Given the description of an element on the screen output the (x, y) to click on. 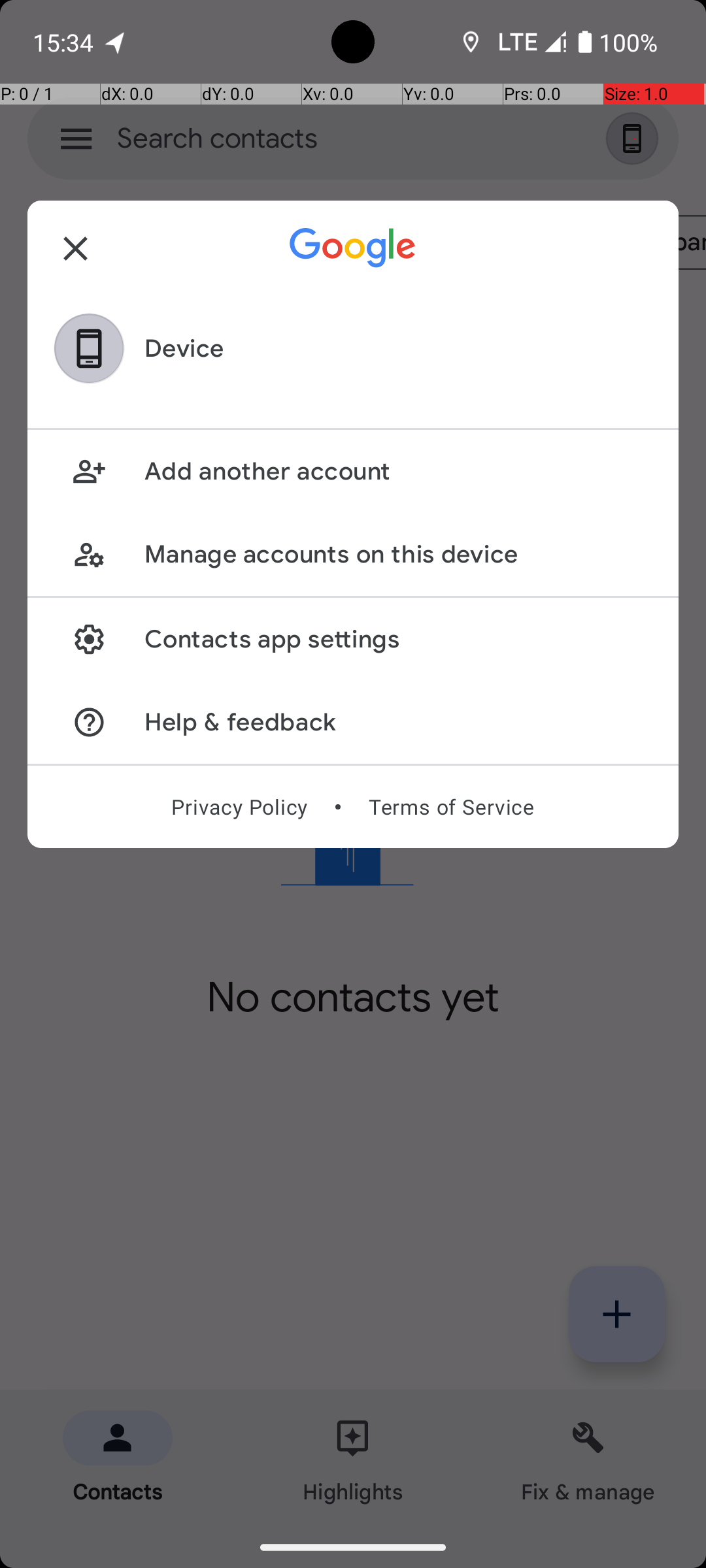
Privacy Policy Element type: android.widget.Button (239, 806)
Terms of Service Element type: android.widget.Button (450, 806)
Device Element type: android.widget.TextView (184, 348)
Add another account Element type: android.widget.TextView (397, 471)
Manage accounts on this device Element type: android.widget.TextView (397, 554)
Contacts app settings Element type: android.widget.TextView (397, 638)
